Given the description of an element on the screen output the (x, y) to click on. 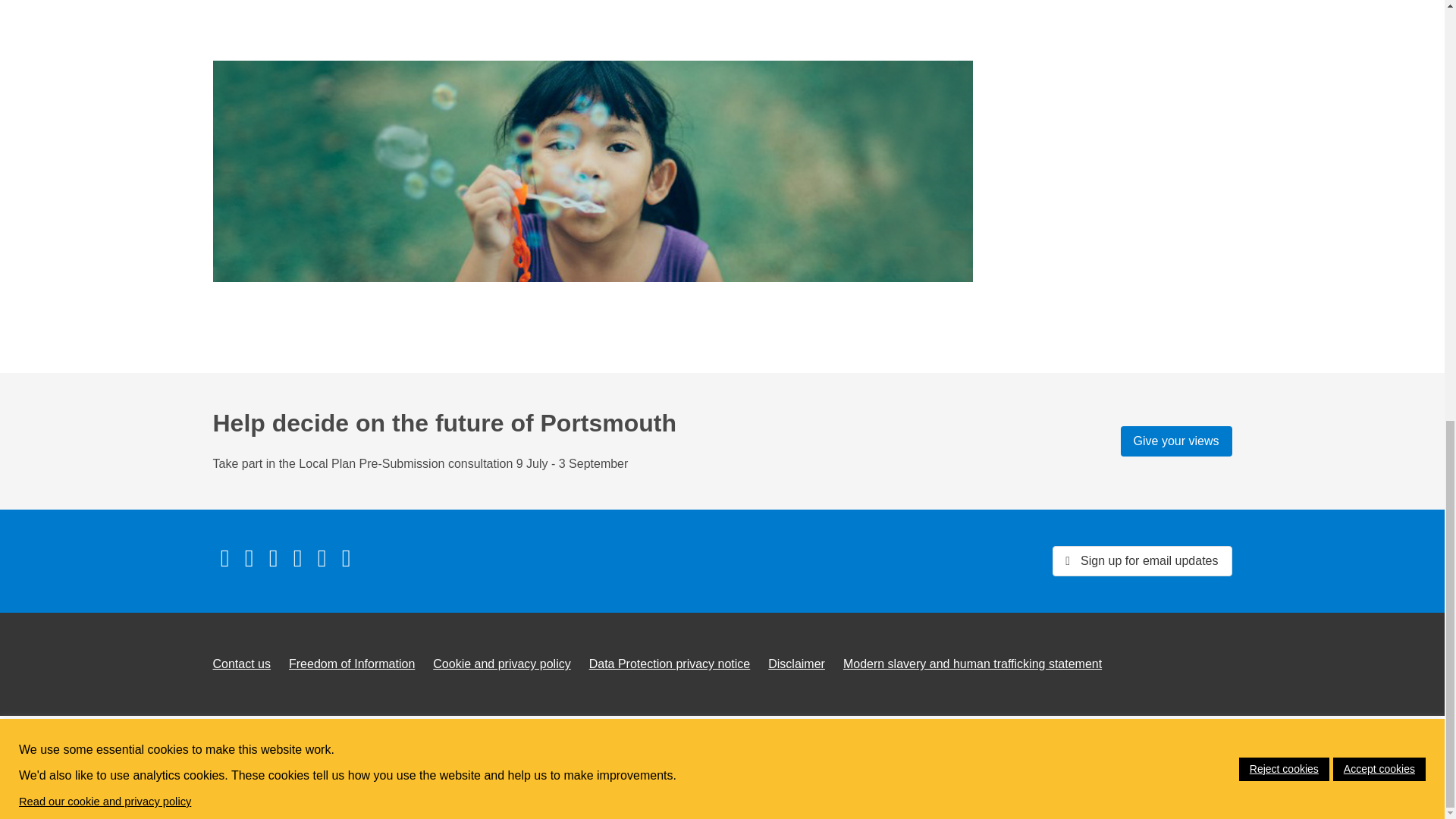
Instagram (345, 558)
Vimeo (296, 558)
LinkedIn (272, 558)
YouTube (320, 558)
Facebook (223, 558)
Twitter (247, 558)
Sign up for email updates (1141, 561)
Give your views (1176, 440)
